Given the description of an element on the screen output the (x, y) to click on. 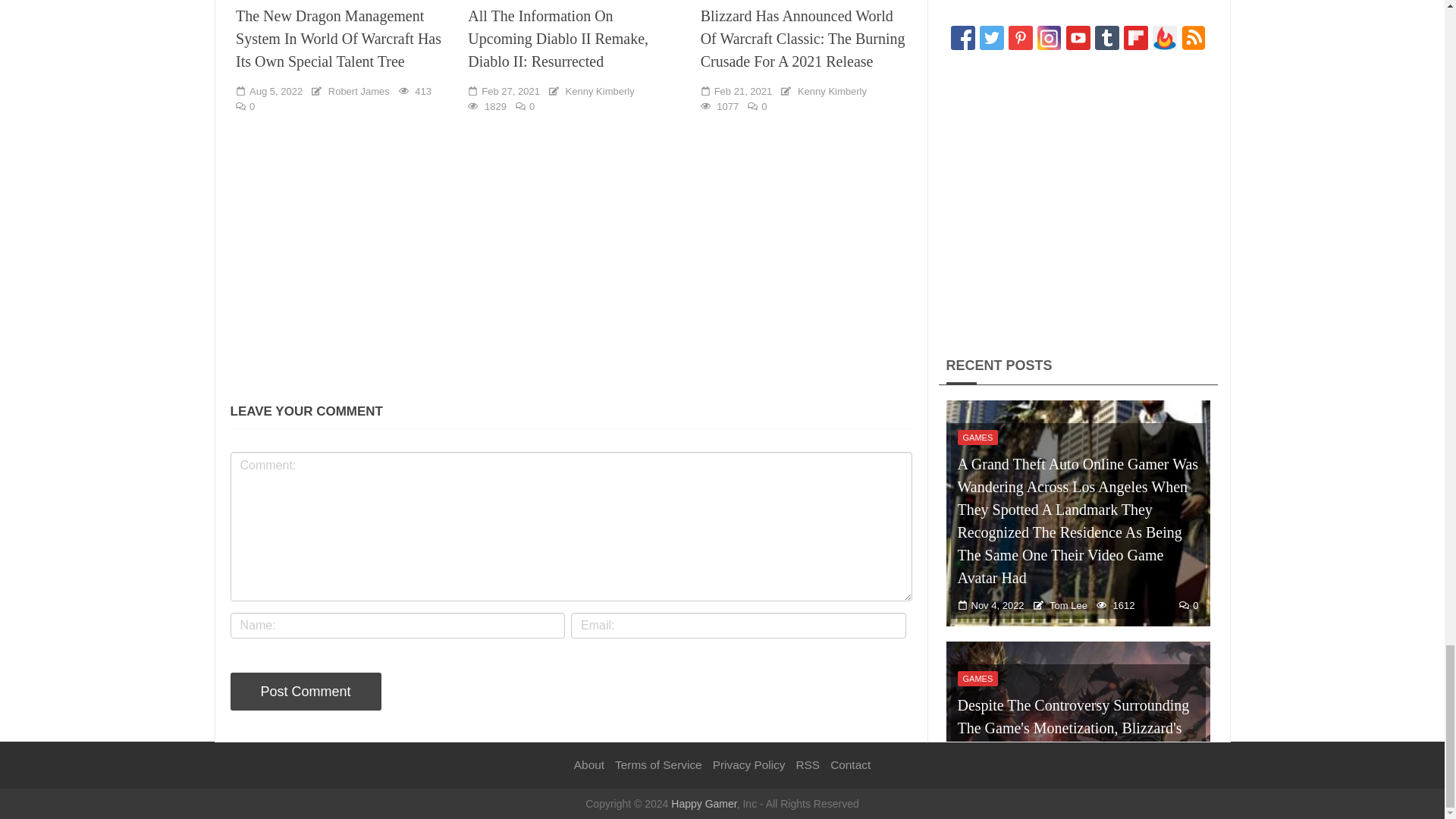
Post Comment (305, 691)
